Given the description of an element on the screen output the (x, y) to click on. 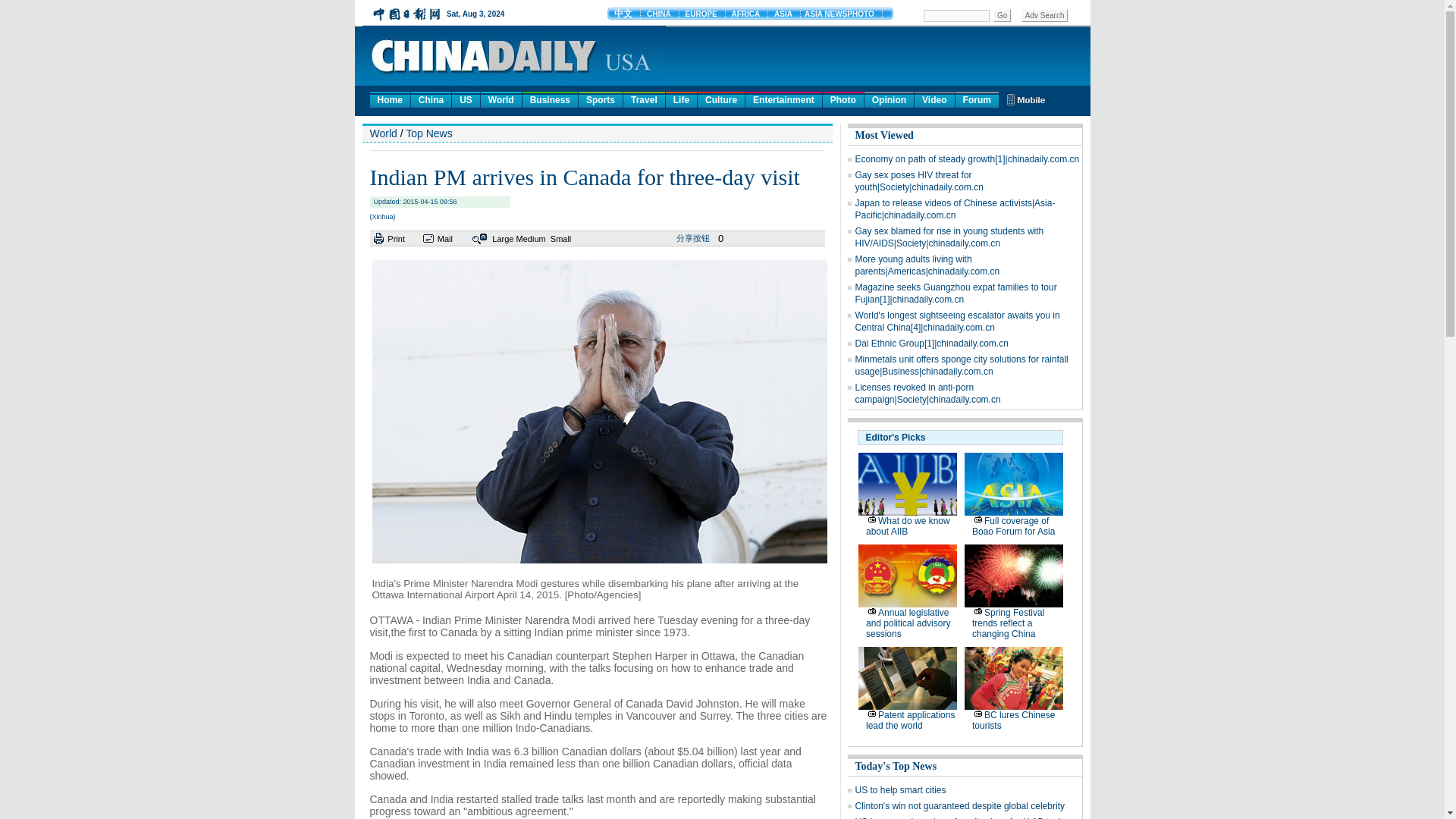
Sports (600, 99)
Business (550, 99)
World (500, 99)
US (465, 99)
Travel (644, 99)
China (430, 99)
Home (389, 99)
